Given the description of an element on the screen output the (x, y) to click on. 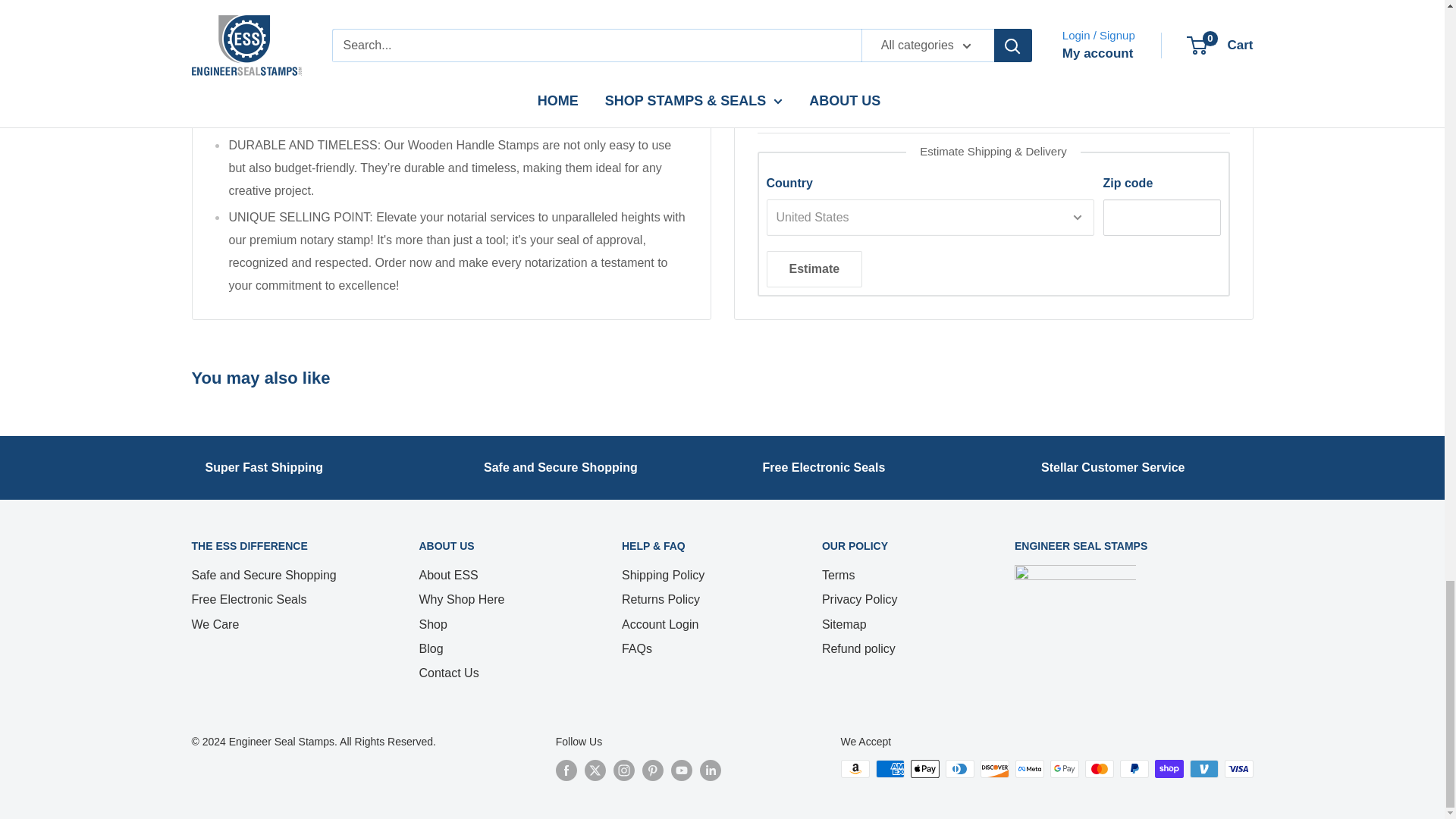
Super-Fast Shipping (264, 467)
Contact Us (1113, 467)
Free Electronic Seals (823, 467)
Safe and Secure Shopping (560, 467)
